Given the description of an element on the screen output the (x, y) to click on. 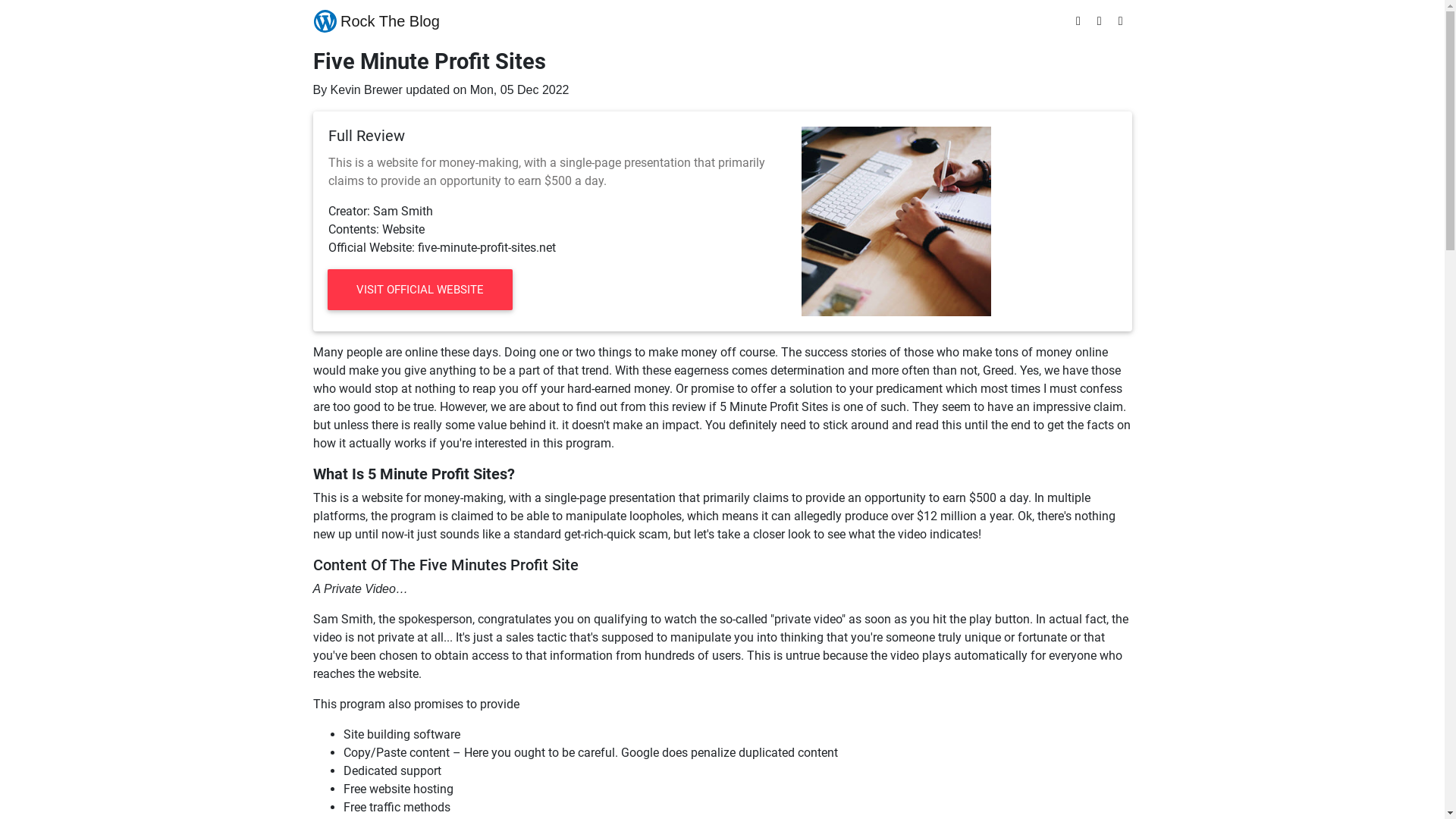
Rock The Blog Element type: text (376, 21)
Five Minute Profit Sites Element type: hover (896, 220)
VISIT OFFICIAL WEBSITE Element type: text (420, 289)
